Given the description of an element on the screen output the (x, y) to click on. 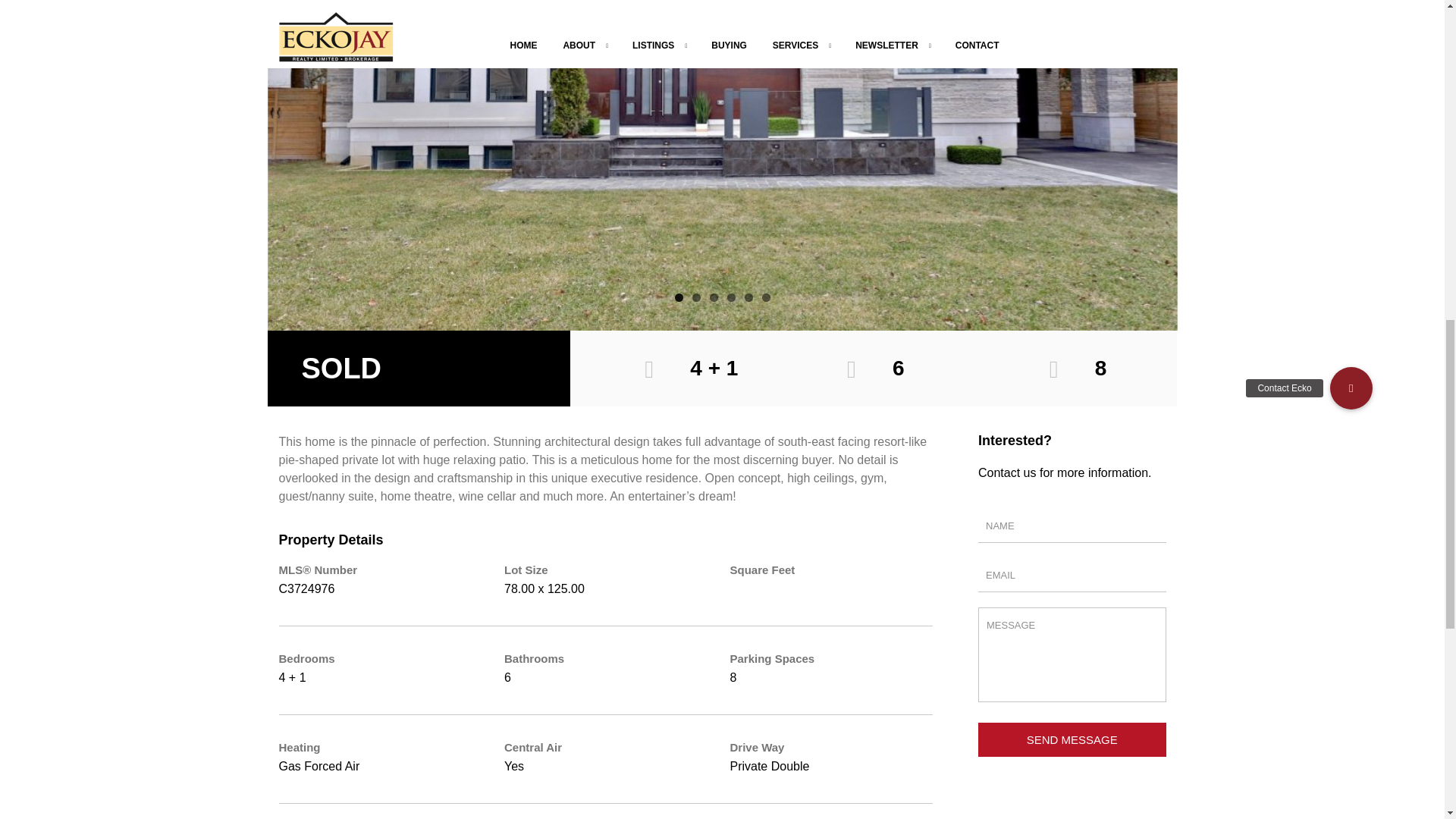
4 (730, 297)
3 (713, 297)
Previous (303, 29)
5 (748, 297)
2 (695, 297)
1 (678, 297)
SEND MESSAGE (1072, 739)
6 (765, 297)
Next (1139, 29)
